Given the description of an element on the screen output the (x, y) to click on. 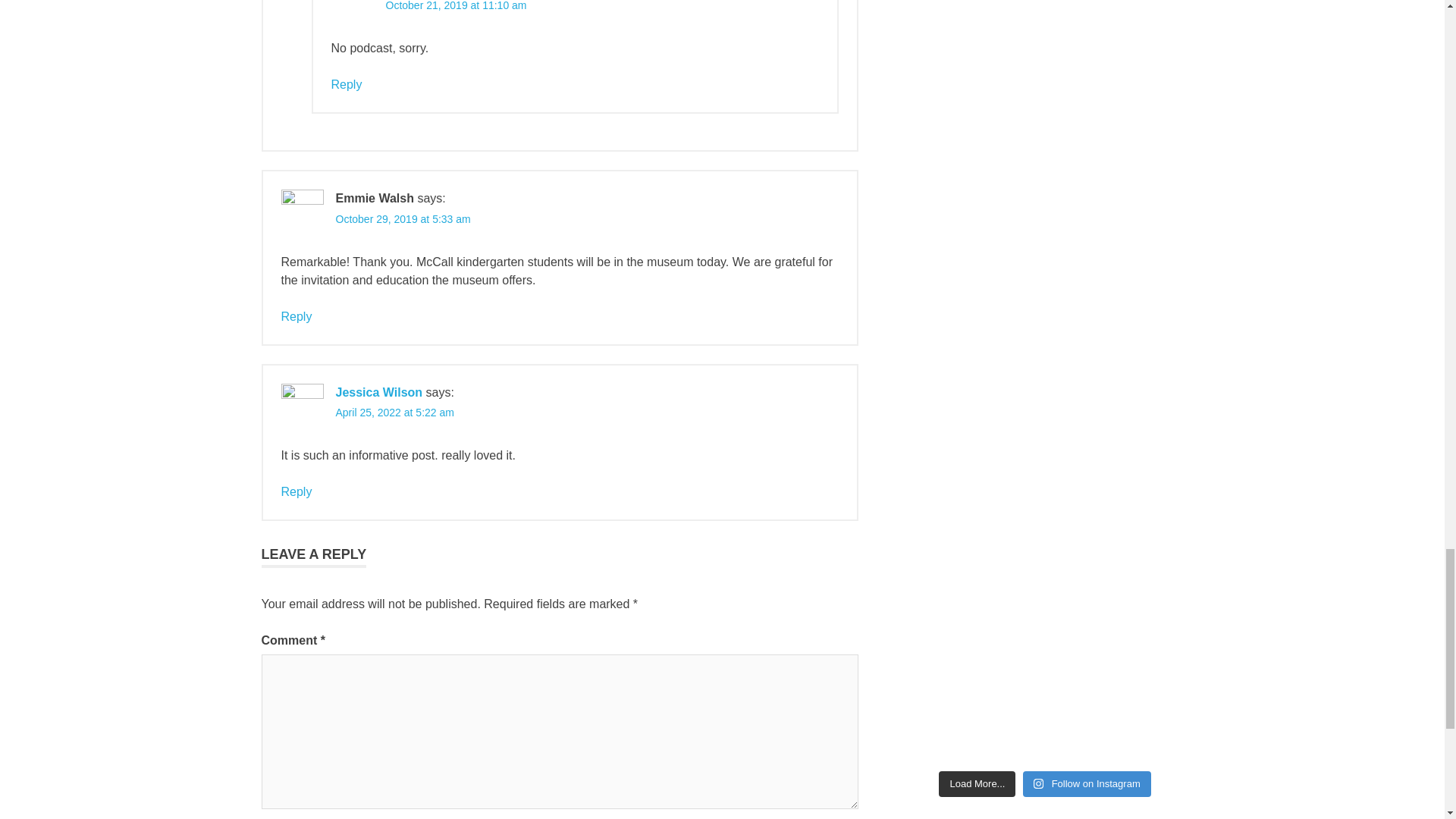
April 25, 2022 at 5:22 am (393, 412)
October 29, 2019 at 5:33 am (402, 218)
Reply (296, 316)
Reply (296, 491)
Reply (345, 83)
October 21, 2019 at 11:10 am (455, 5)
Jessica Wilson (378, 391)
